Given the description of an element on the screen output the (x, y) to click on. 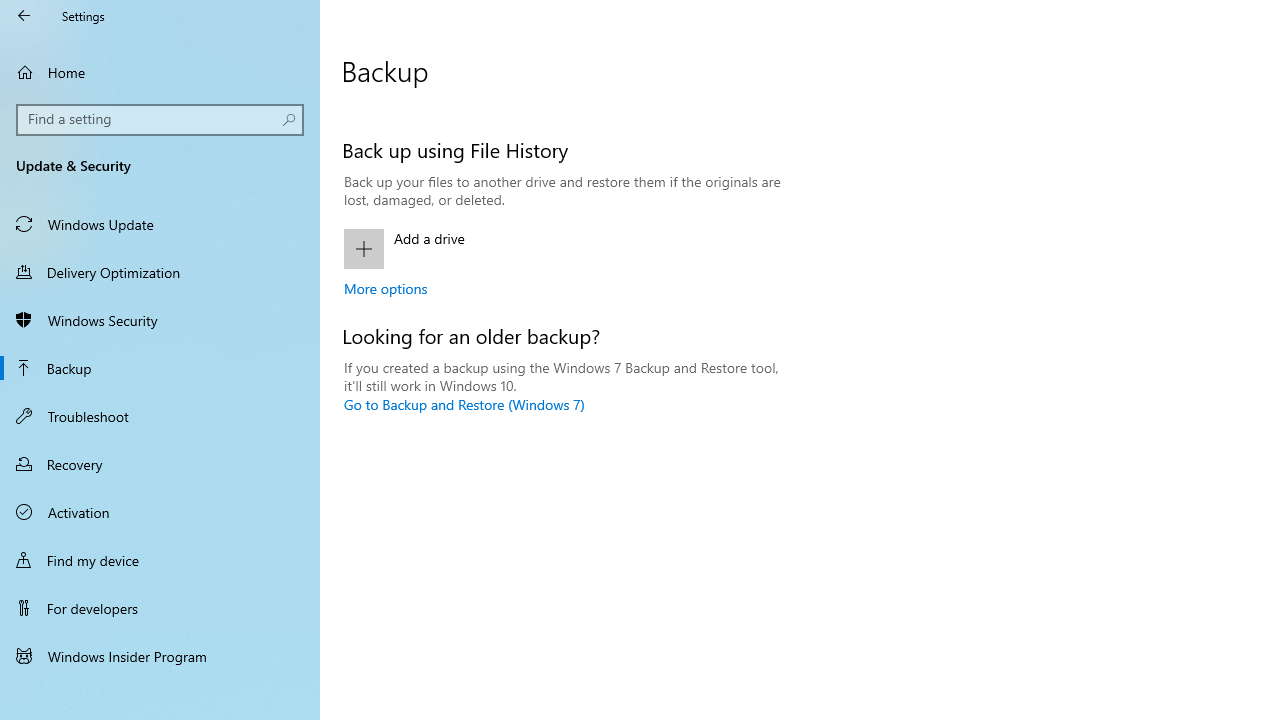
Windows Insider Program (160, 655)
Home (160, 71)
Windows Update (160, 223)
Search box, Find a setting (160, 119)
Back (24, 15)
Activation (160, 511)
For developers (160, 607)
Add a drive (563, 248)
Recovery (160, 463)
Delivery Optimization (160, 271)
Backup (160, 367)
Go to Backup and Restore (Windows 7) (464, 404)
Find my device (160, 559)
Troubleshoot (160, 415)
More options (385, 288)
